Given the description of an element on the screen output the (x, y) to click on. 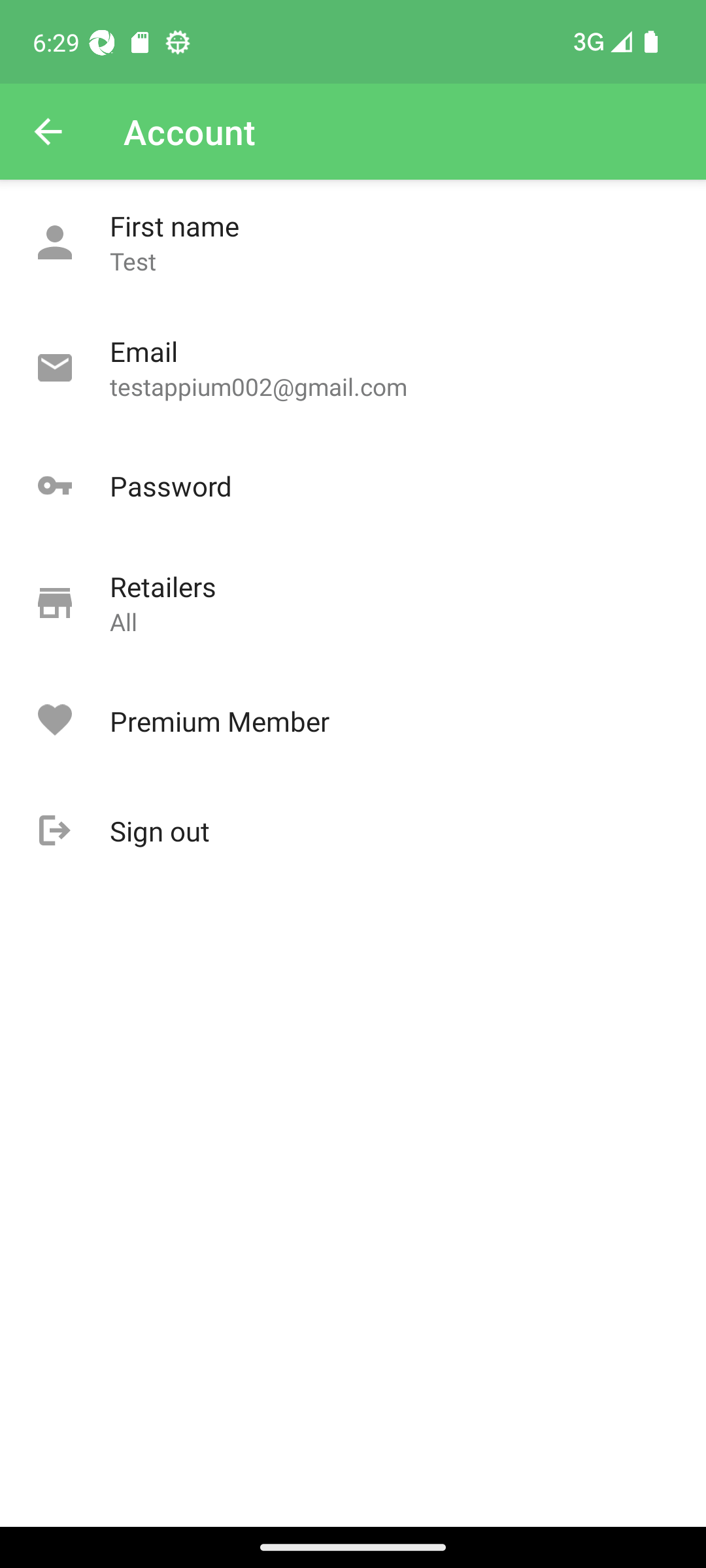
Navigate up (48, 131)
First name Test (353, 242)
Email testappium002@gmail.com (353, 368)
Password (353, 485)
Retailers All (353, 603)
Premium Member (353, 721)
Sign out (353, 830)
